Given the description of an element on the screen output the (x, y) to click on. 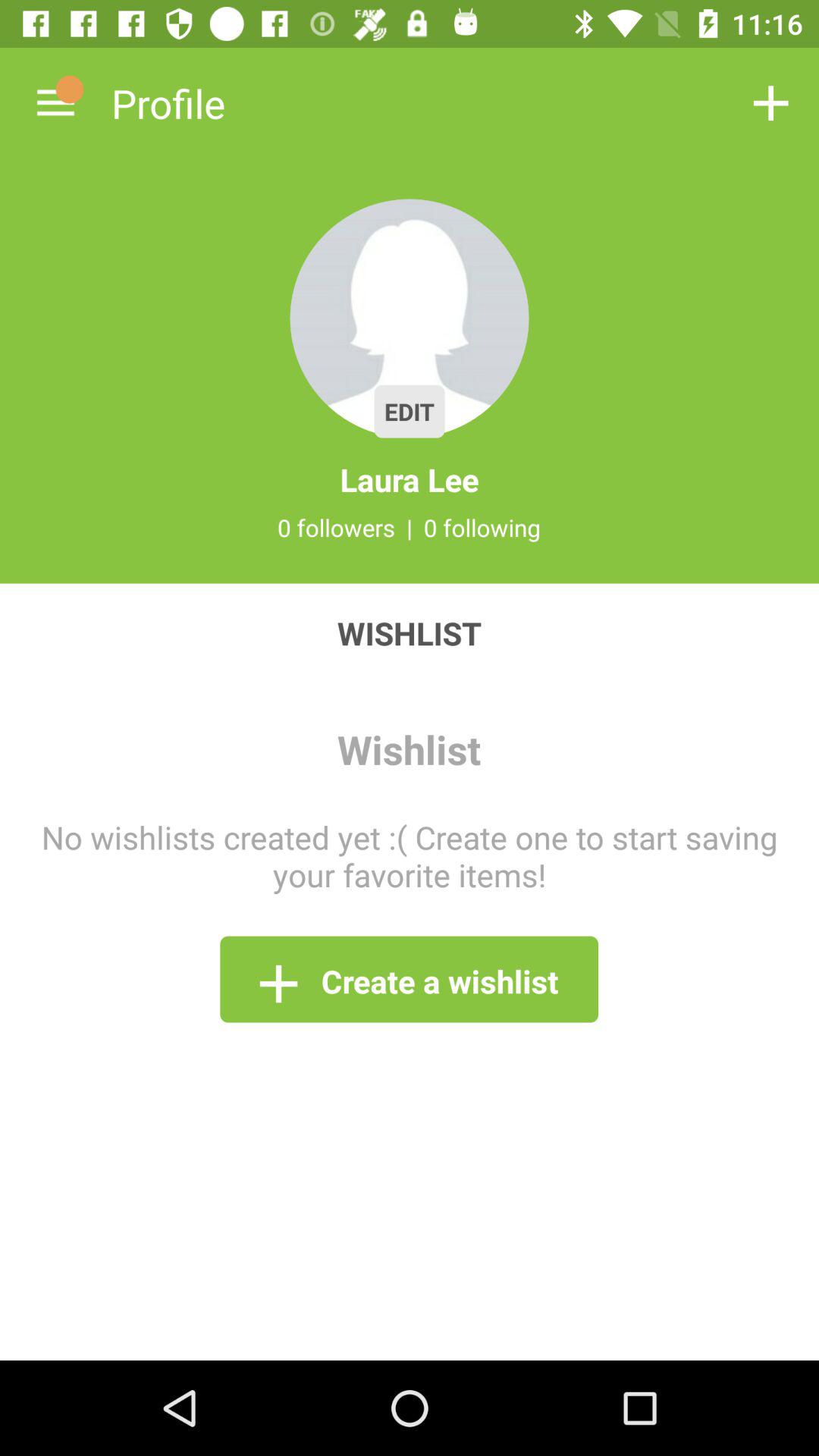
swipe until 0 followers icon (336, 527)
